Given the description of an element on the screen output the (x, y) to click on. 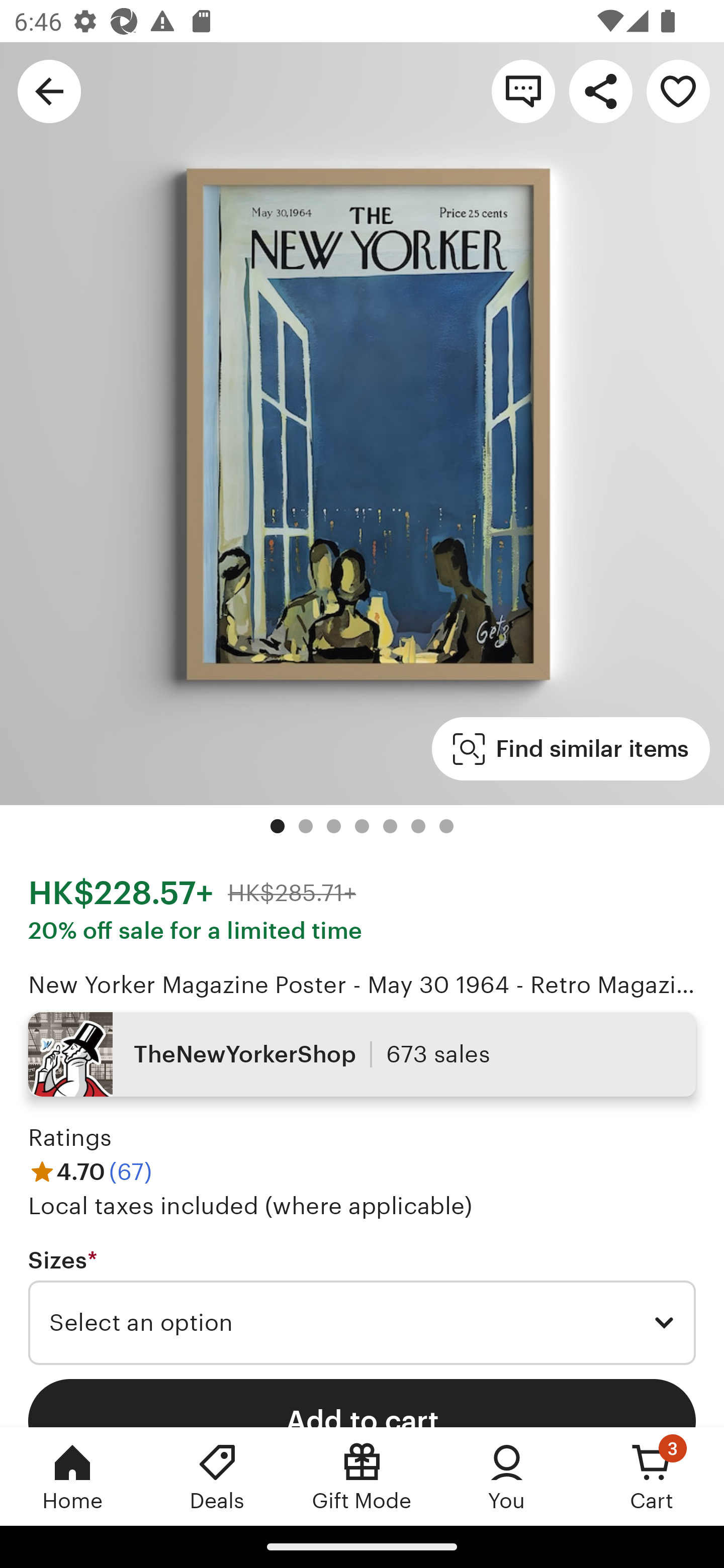
Navigate up (49, 90)
Contact shop (523, 90)
Share (600, 90)
Find similar items (571, 748)
TheNewYorkerShop 673 sales (361, 1054)
Ratings (70, 1137)
4.70 (67) (90, 1171)
Sizes * Required Select an option (361, 1306)
Select an option (361, 1323)
Deals (216, 1475)
Gift Mode (361, 1475)
You (506, 1475)
Cart, 3 new notifications Cart (651, 1475)
